Given the description of an element on the screen output the (x, y) to click on. 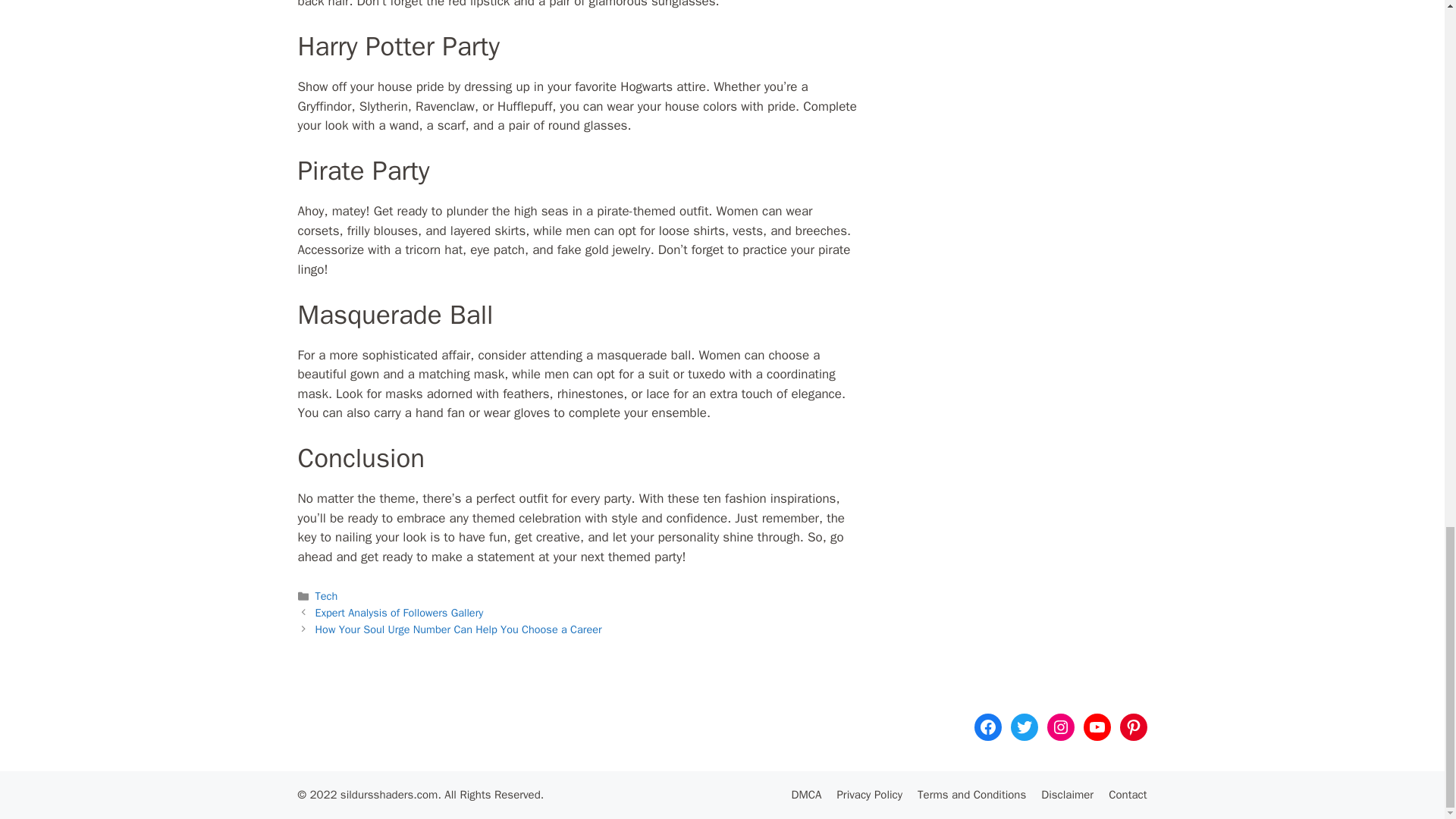
How Your Soul Urge Number Can Help You Choose a Career (458, 629)
Terms and Conditions (971, 794)
Contact (1127, 794)
Instagram (1060, 727)
Pinterest (1133, 727)
Twitter (1024, 727)
Tech (326, 595)
YouTube (1096, 727)
Facebook (987, 727)
DMCA (807, 794)
Privacy Policy (868, 794)
Expert Analysis of Followers Gallery (399, 612)
Disclaimer (1067, 794)
